Given the description of an element on the screen output the (x, y) to click on. 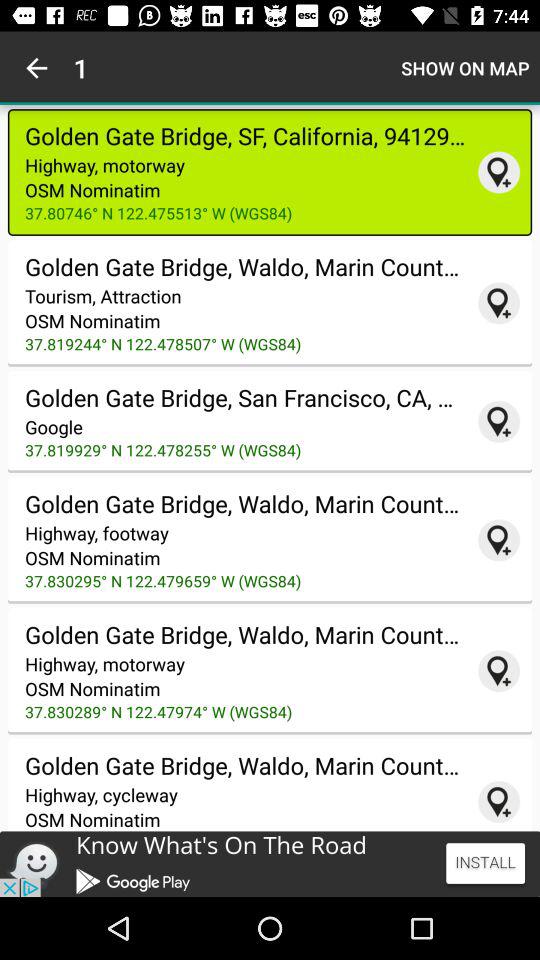
select coordinates (499, 540)
